Given the description of an element on the screen output the (x, y) to click on. 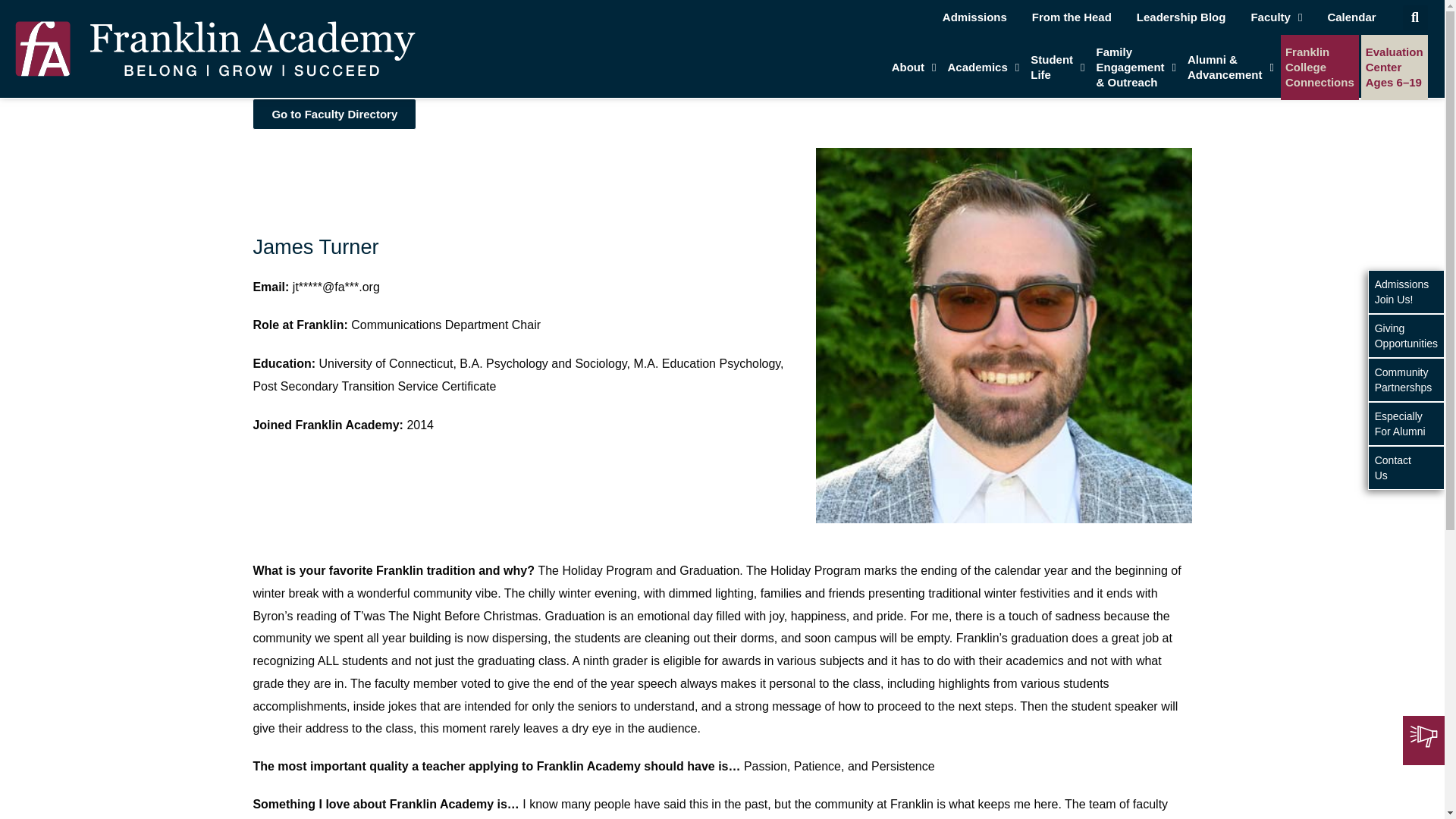
Admissions (1057, 67)
From the Head (974, 17)
Calendar (1071, 17)
Faculty (1351, 17)
Academics (1276, 17)
Leadership Blog (984, 67)
